Given the description of an element on the screen output the (x, y) to click on. 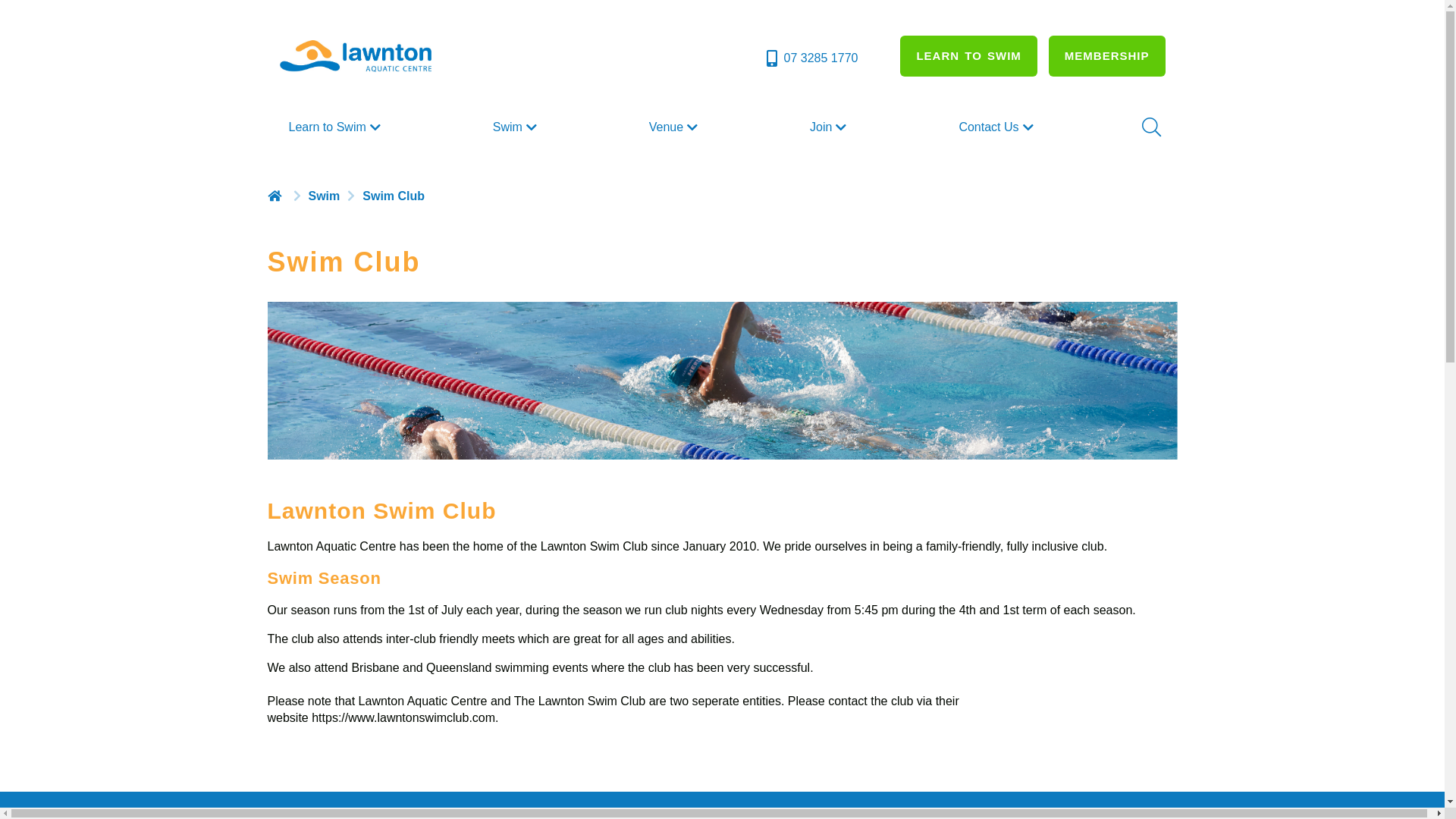
LEARN TO SWIM Element type: text (968, 55)
Join Element type: text (829, 127)
MEMBERSHIP Element type: text (1106, 55)
Swim Element type: text (516, 127)
Search Element type: text (1150, 127)
Venue Element type: text (675, 127)
07 3285 1770 Element type: text (810, 58)
Contact Us Element type: text (997, 127)
  Element type: text (275, 195)
Learn to Swim Element type: text (335, 127)
